Given the description of an element on the screen output the (x, y) to click on. 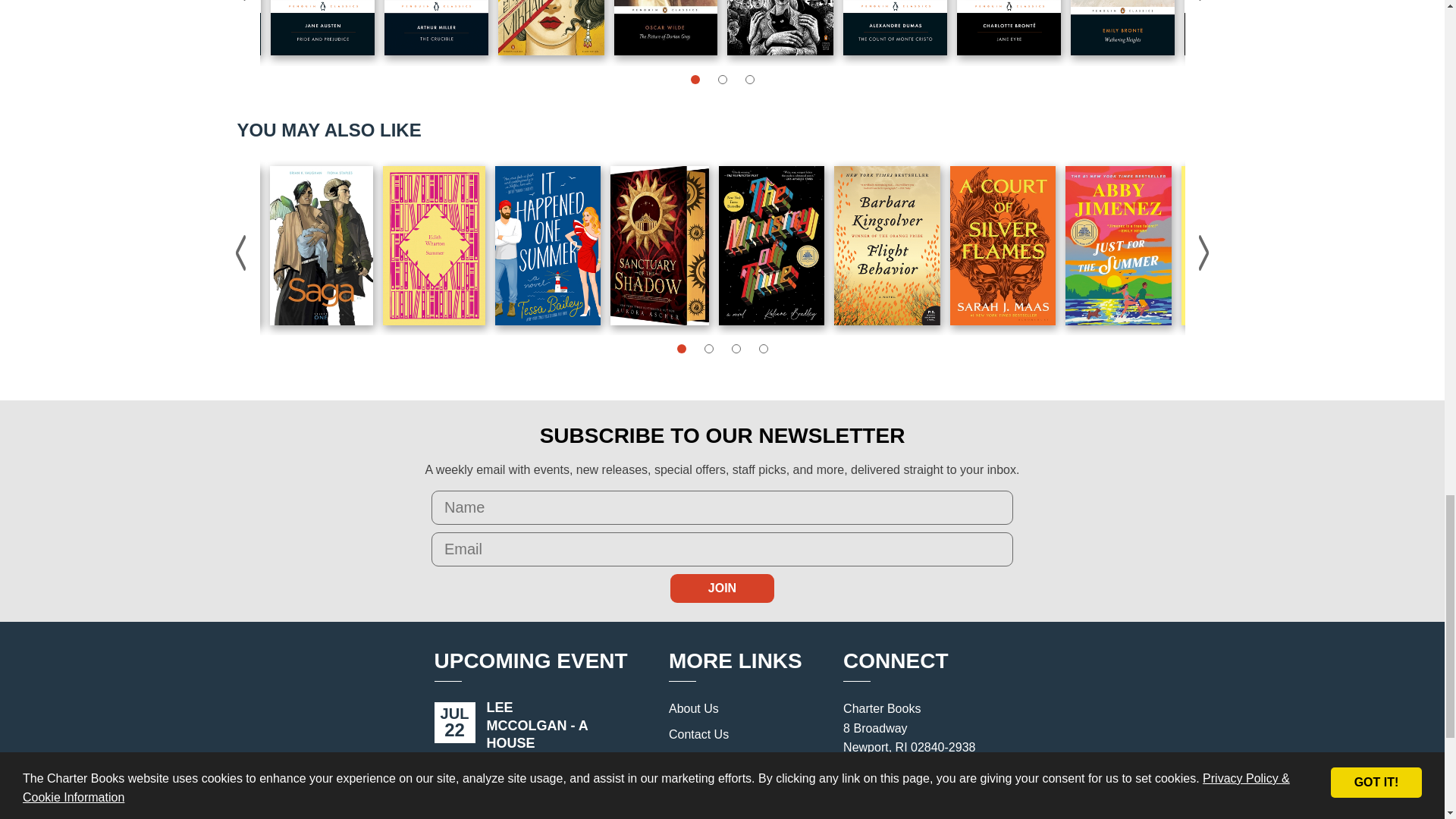
Join (721, 588)
